Given the description of an element on the screen output the (x, y) to click on. 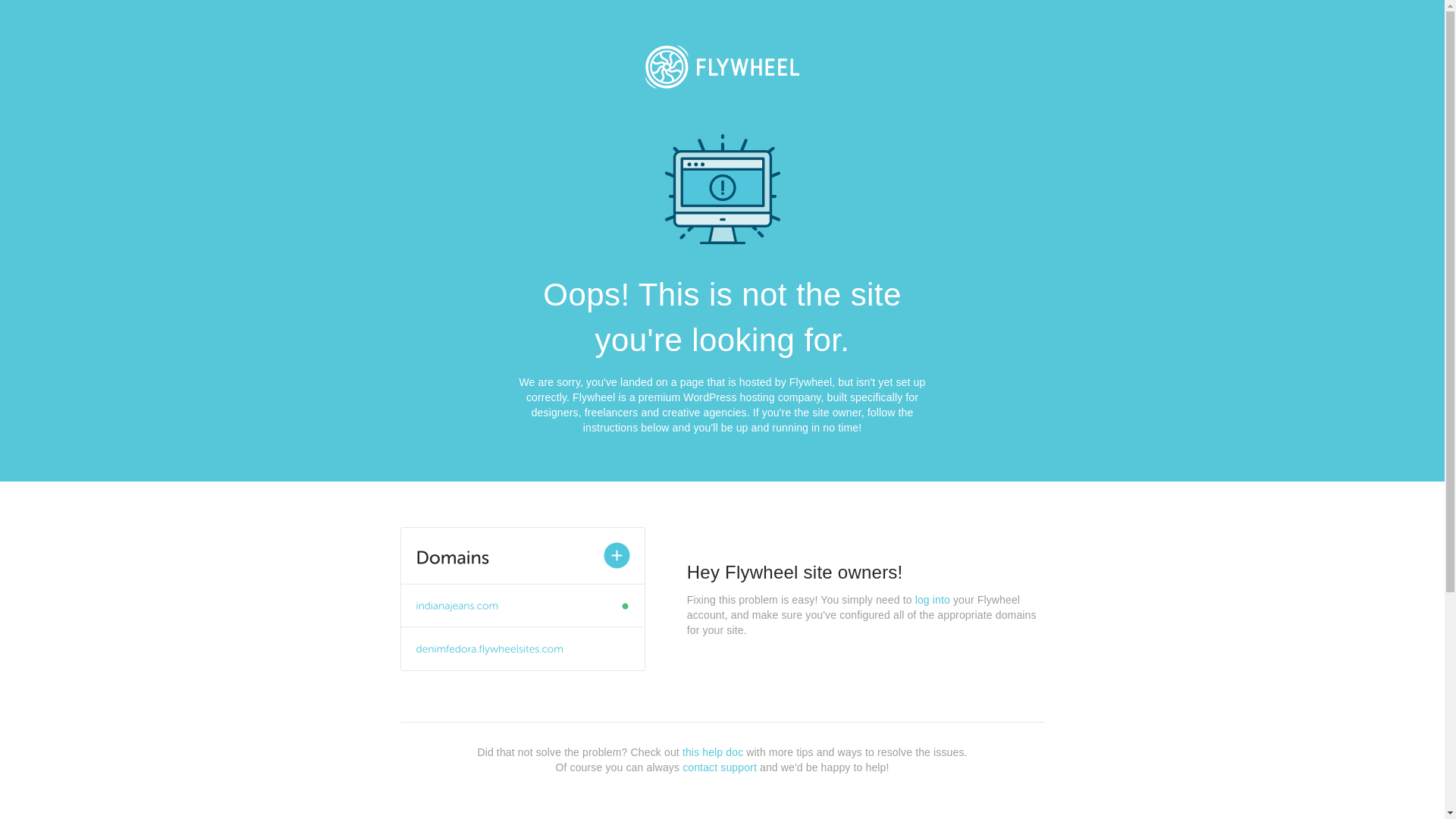
log into (932, 599)
contact support (719, 767)
this help doc (712, 752)
